Given the description of an element on the screen output the (x, y) to click on. 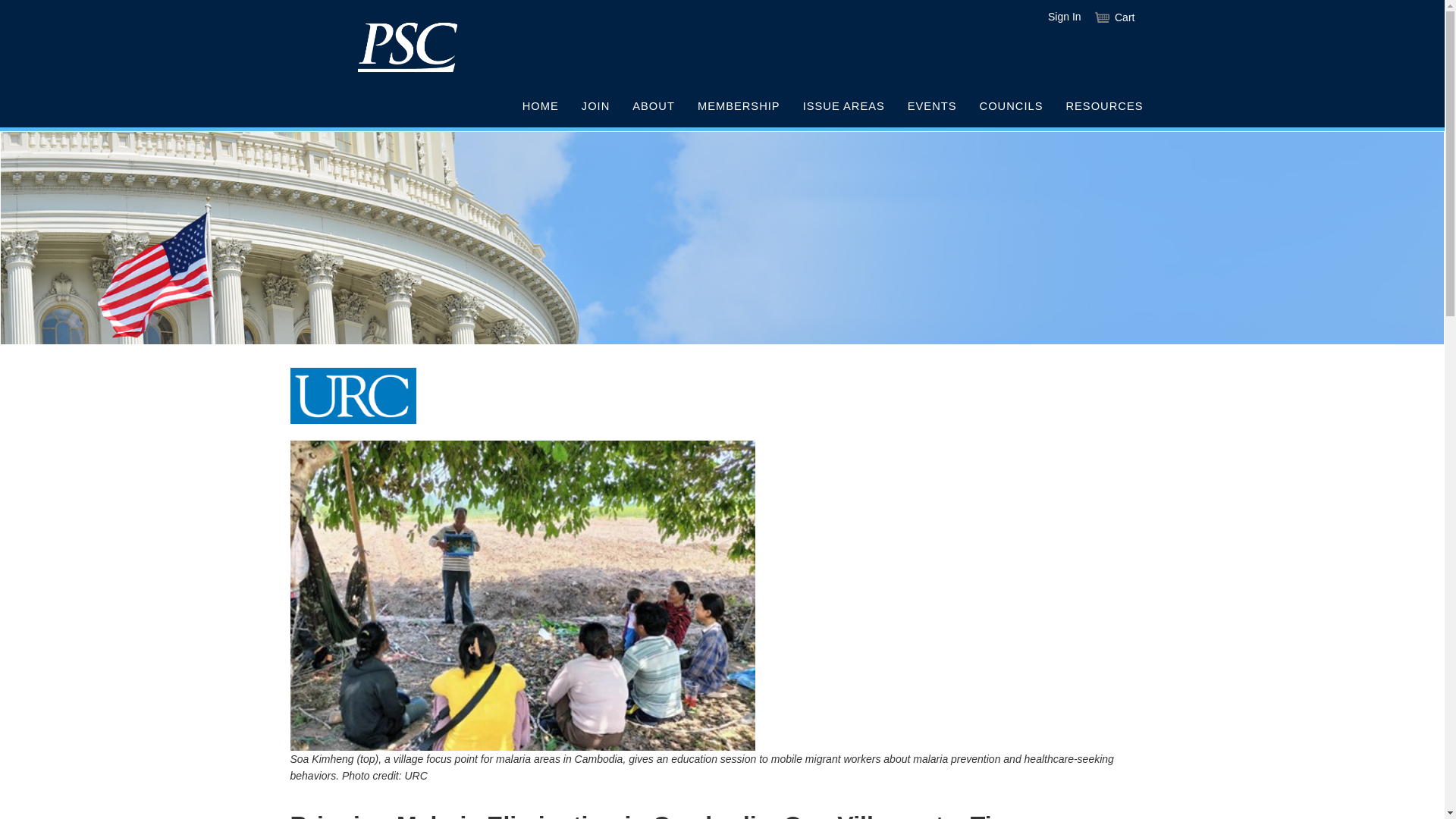
JOIN (595, 106)
MEMBERSHIP (738, 106)
ISSUE AREAS (844, 106)
HOME (540, 106)
Cart (1114, 17)
ABOUT (653, 106)
Sign In (1064, 16)
Home (406, 46)
